Given the description of an element on the screen output the (x, y) to click on. 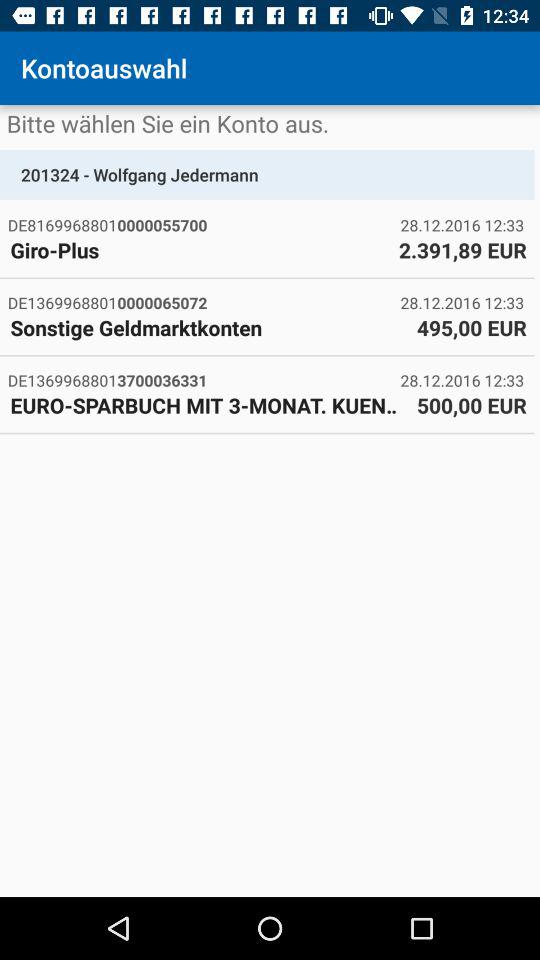
turn on icon above giro-plus (203, 224)
